Given the description of an element on the screen output the (x, y) to click on. 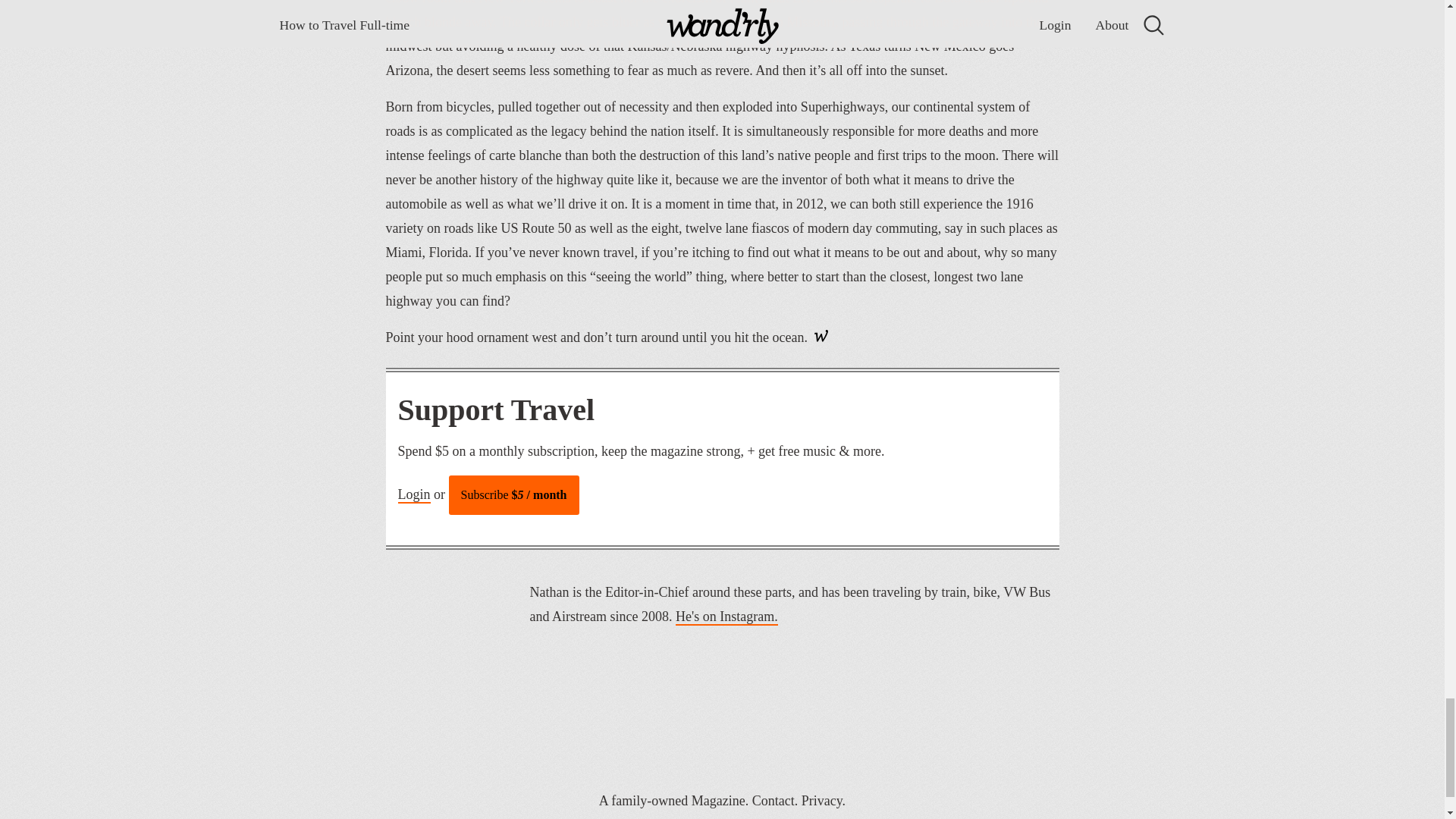
A family-owned Magazine. (673, 800)
Privacy. (823, 800)
Login (413, 494)
Contact. (774, 800)
He's on Instagram. (726, 617)
